Given the description of an element on the screen output the (x, y) to click on. 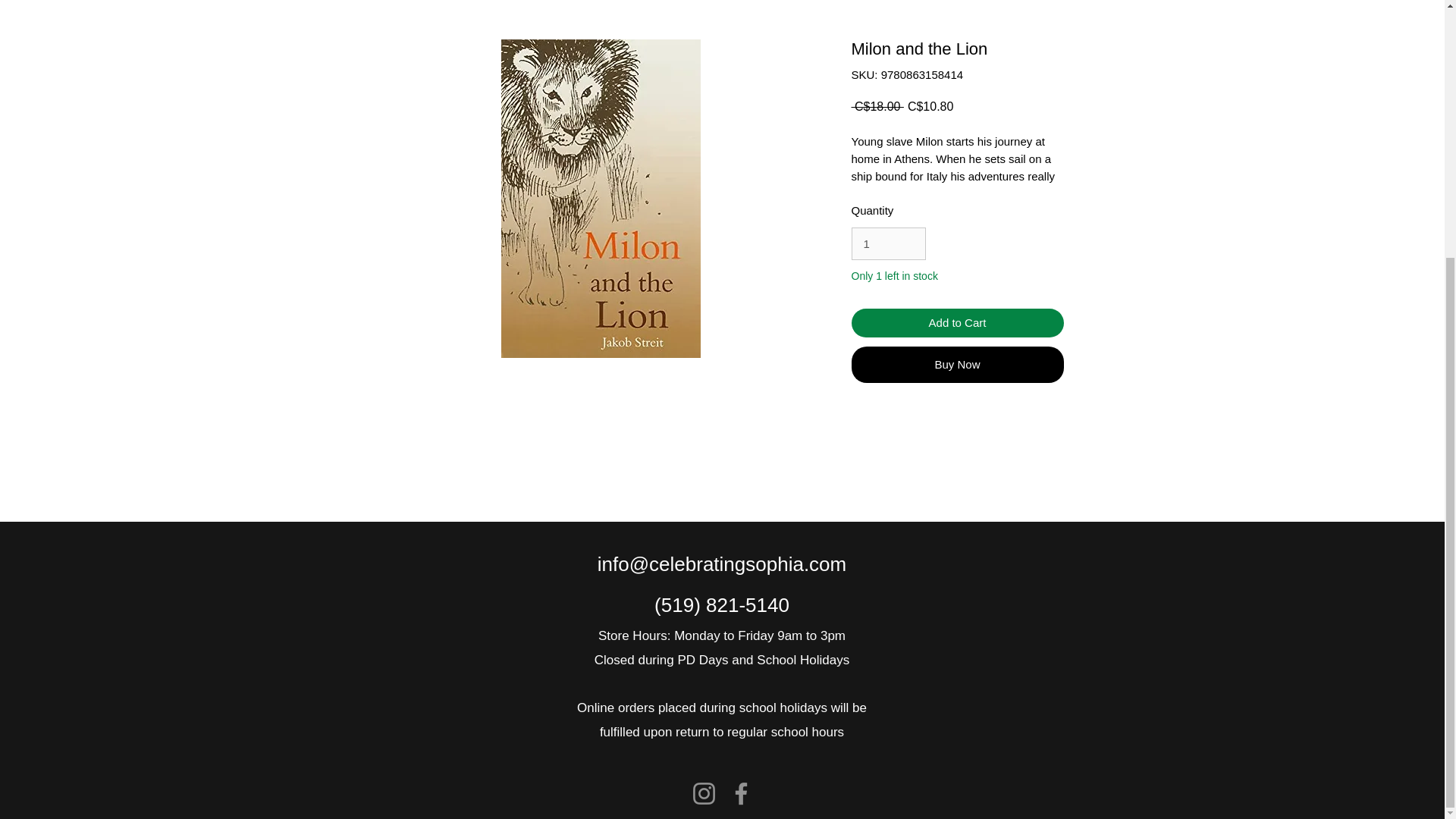
Add to Cart (956, 323)
Buy Now (956, 364)
1 (887, 244)
